Given the description of an element on the screen output the (x, y) to click on. 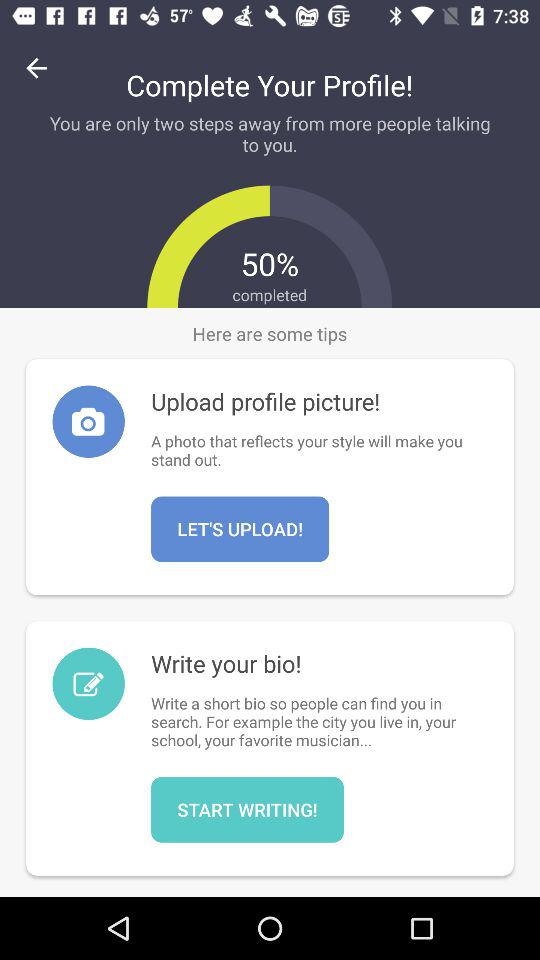
turn off icon below a photo that (240, 529)
